Given the description of an element on the screen output the (x, y) to click on. 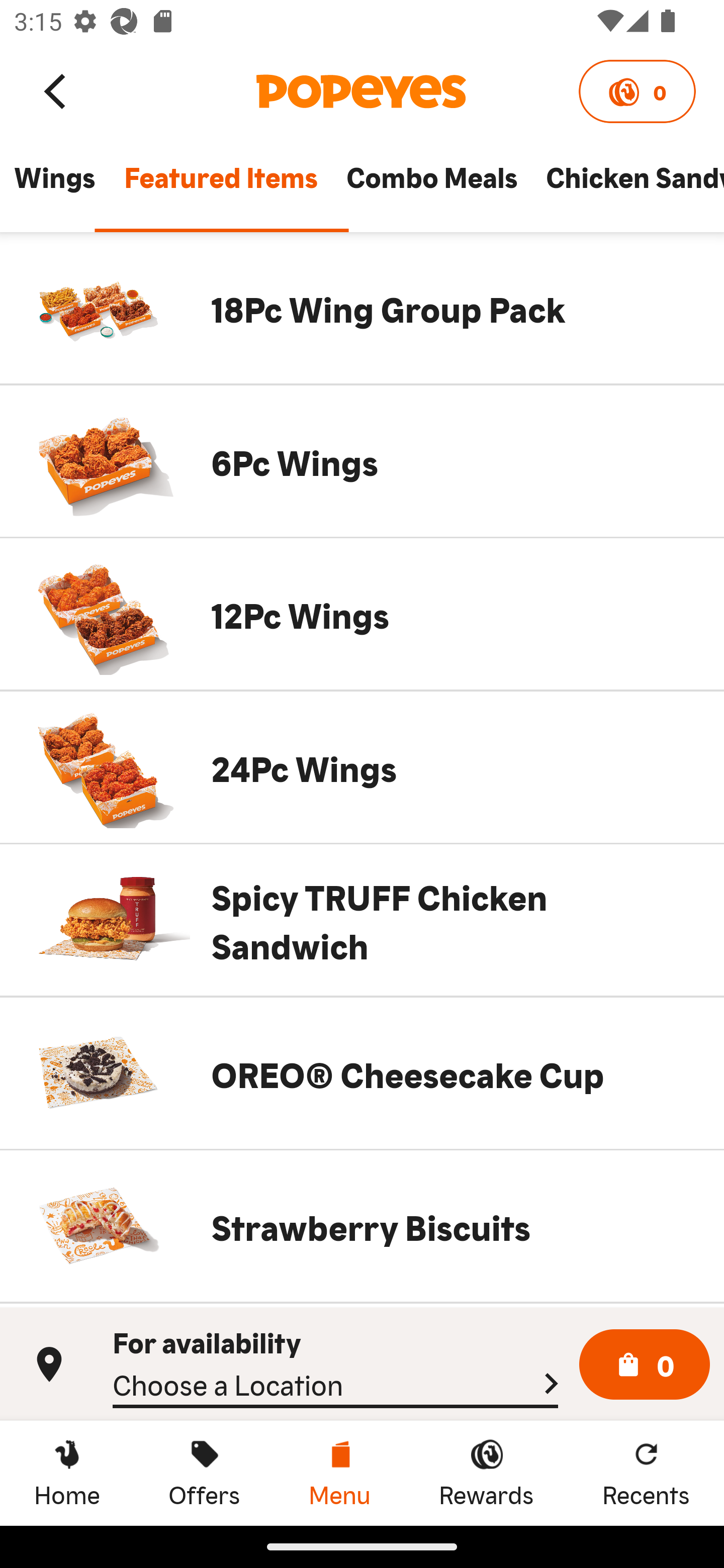
Back (56, 90)
0 Points 0 (636, 91)
Wings (54, 186)
Featured Items (220, 186)
Combo Meals (431, 186)
Chicken Sandwich   (627, 186)
0 Cart total  0 (644, 1364)
Home Home Home (66, 1472)
Offers Offers Offers (203, 1472)
Menu, current page Menu Menu, current page (339, 1472)
Rewards Rewards Rewards (486, 1472)
Recents Recents Recents (646, 1472)
